Given the description of an element on the screen output the (x, y) to click on. 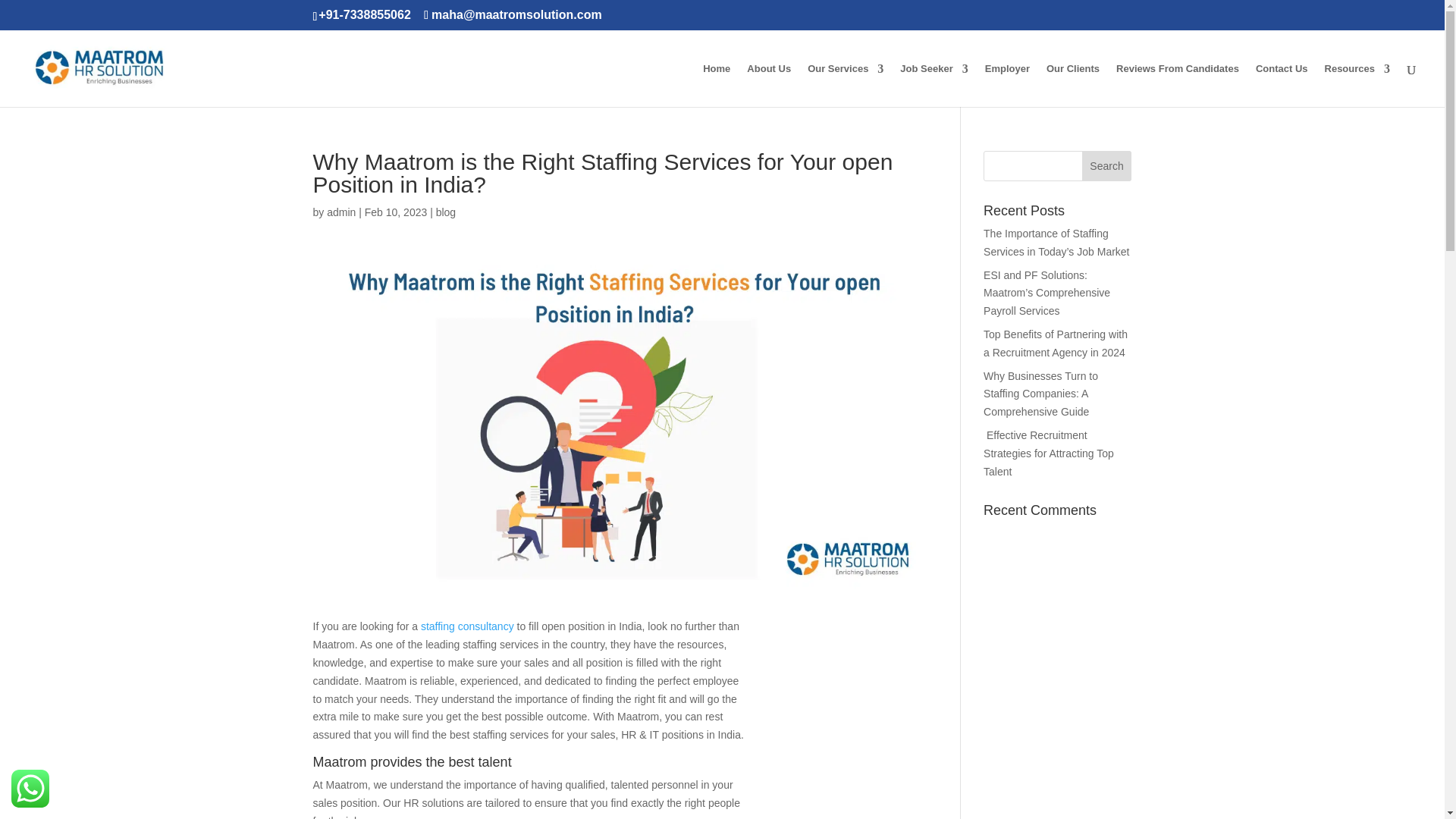
Posts by admin (340, 212)
Search (1106, 165)
Employer (1007, 85)
About Us (768, 85)
Contact Us (1281, 85)
Our Clients (1072, 85)
Home (716, 85)
Job Seeker (933, 85)
Resources (1357, 85)
Reviews From Candidates (1177, 85)
Our Services (845, 85)
